Given the description of an element on the screen output the (x, y) to click on. 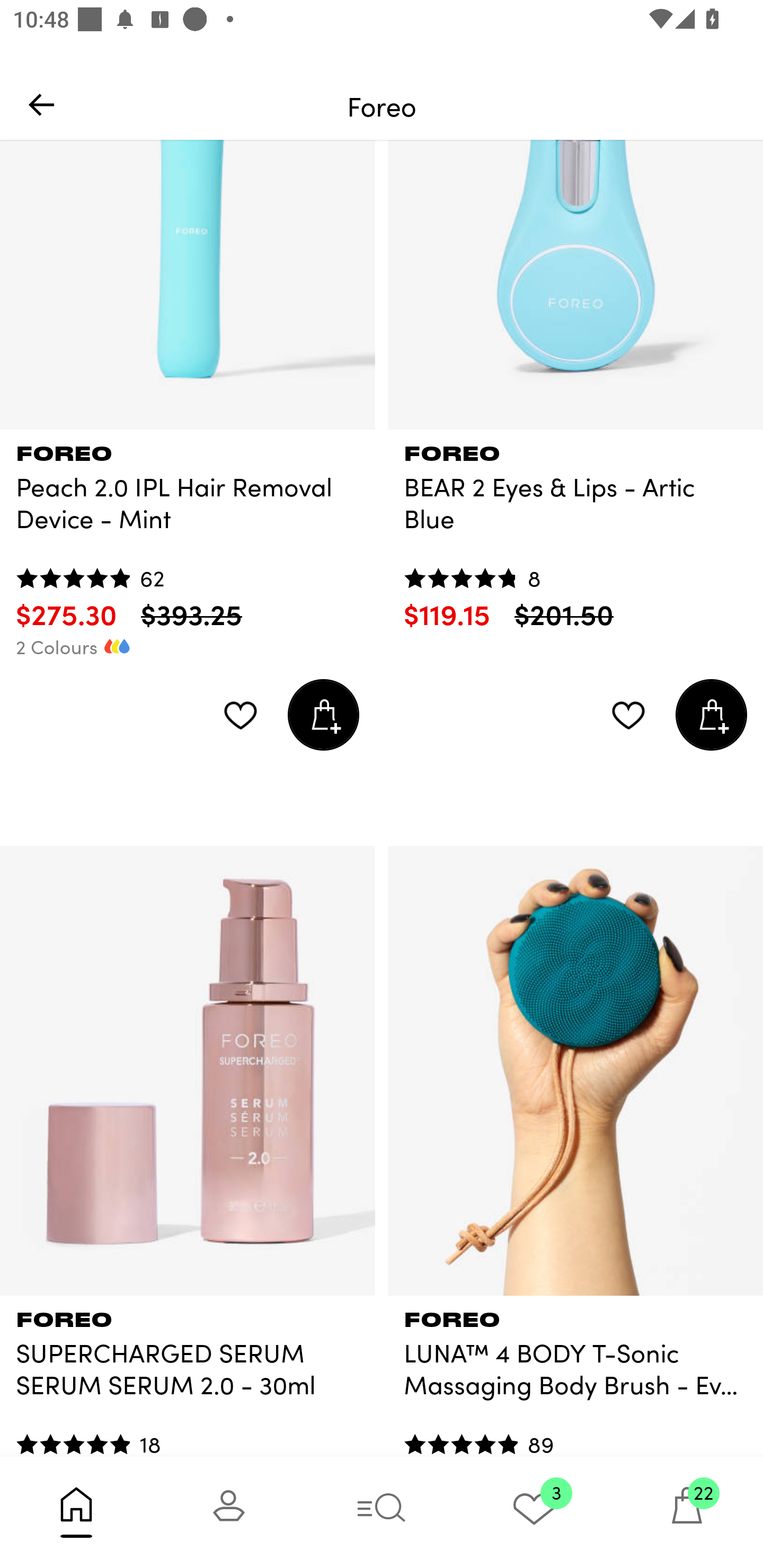
FOREO SUPERCHARGED SERUM SERUM SERUM 2.0 - 30ml 18 (187, 1375)
3 (533, 1512)
22 (686, 1512)
